Given the description of an element on the screen output the (x, y) to click on. 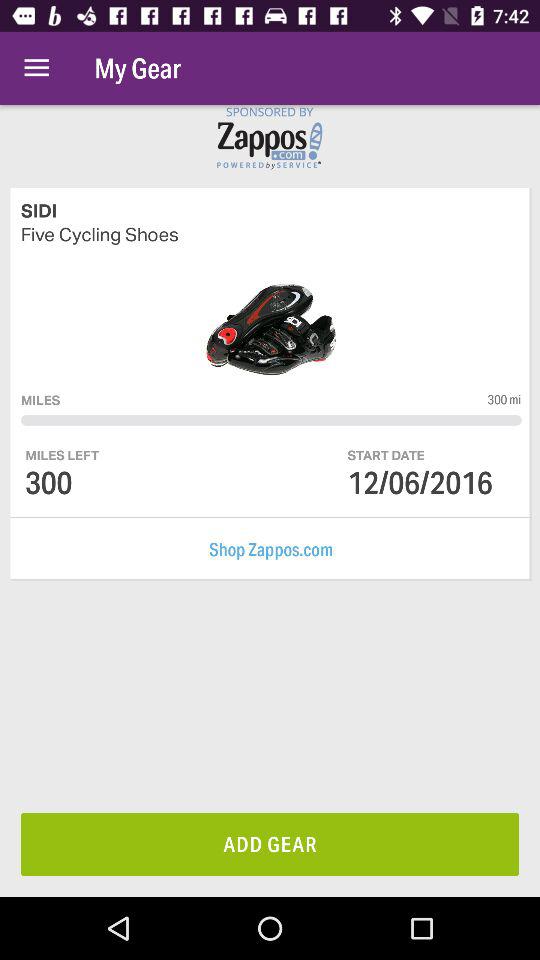
jump to the shop zappos.com icon (271, 549)
